Given the description of an element on the screen output the (x, y) to click on. 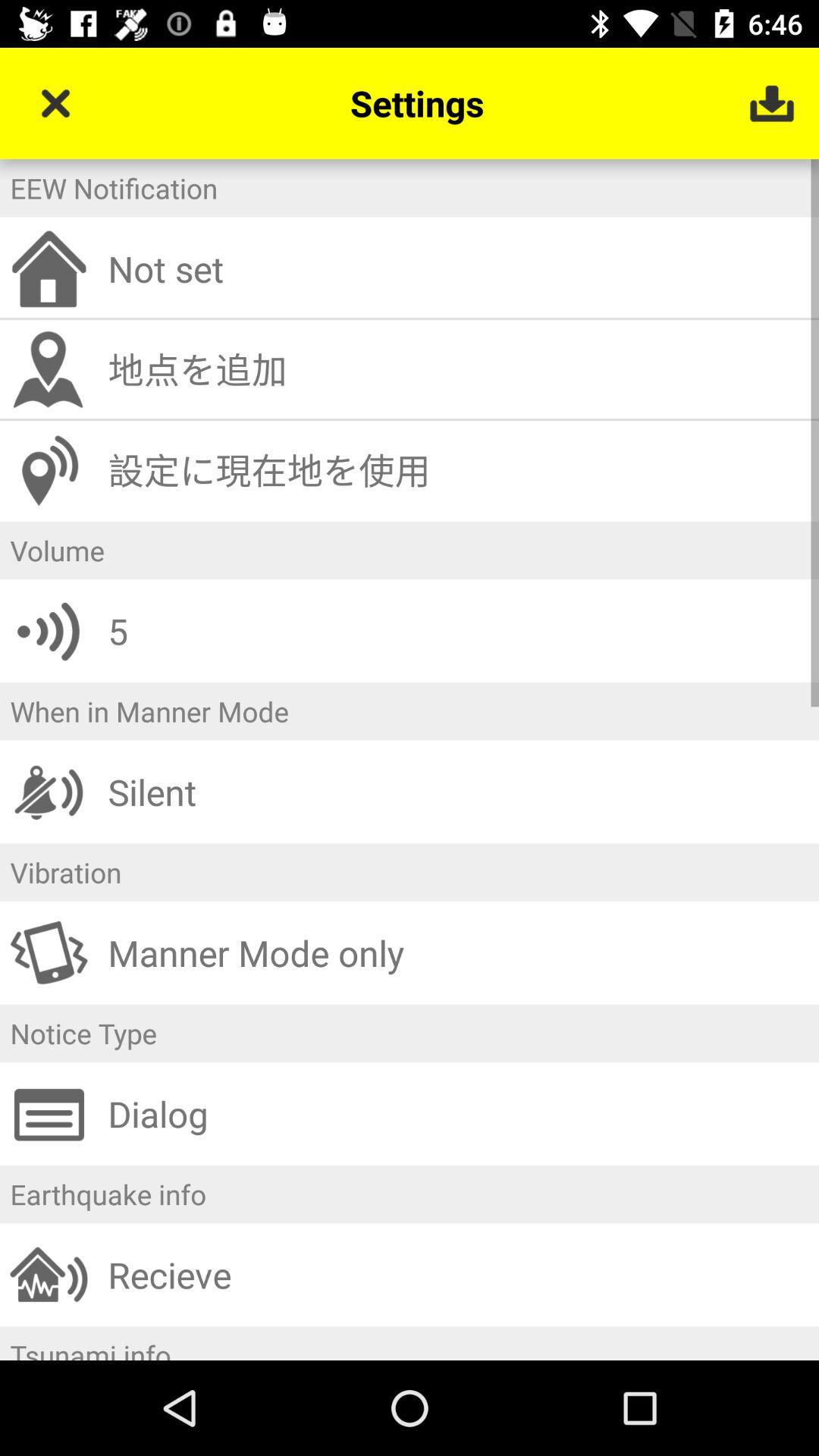
scroll to notice type item (409, 1033)
